Given the description of an element on the screen output the (x, y) to click on. 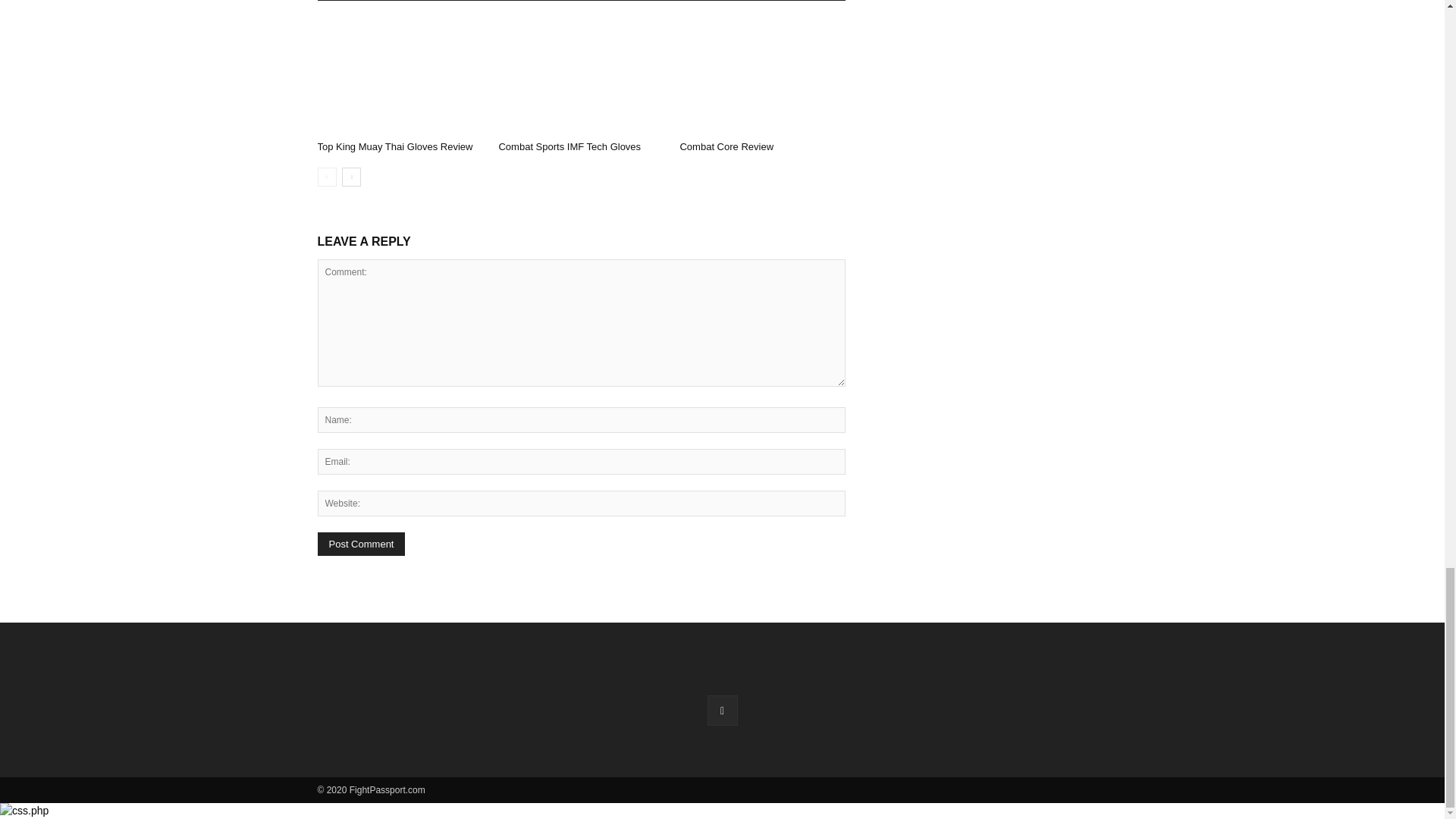
Facebook (721, 710)
Combat Sports IMF Tech Gloves (568, 146)
Combat Core Review (761, 77)
Combat Core Review (726, 146)
Post Comment (360, 544)
Top King Muay Thai Gloves Review (399, 77)
Combat Sports IMF Tech Gloves (580, 77)
Top King Muay Thai Gloves Review (394, 146)
